Given the description of an element on the screen output the (x, y) to click on. 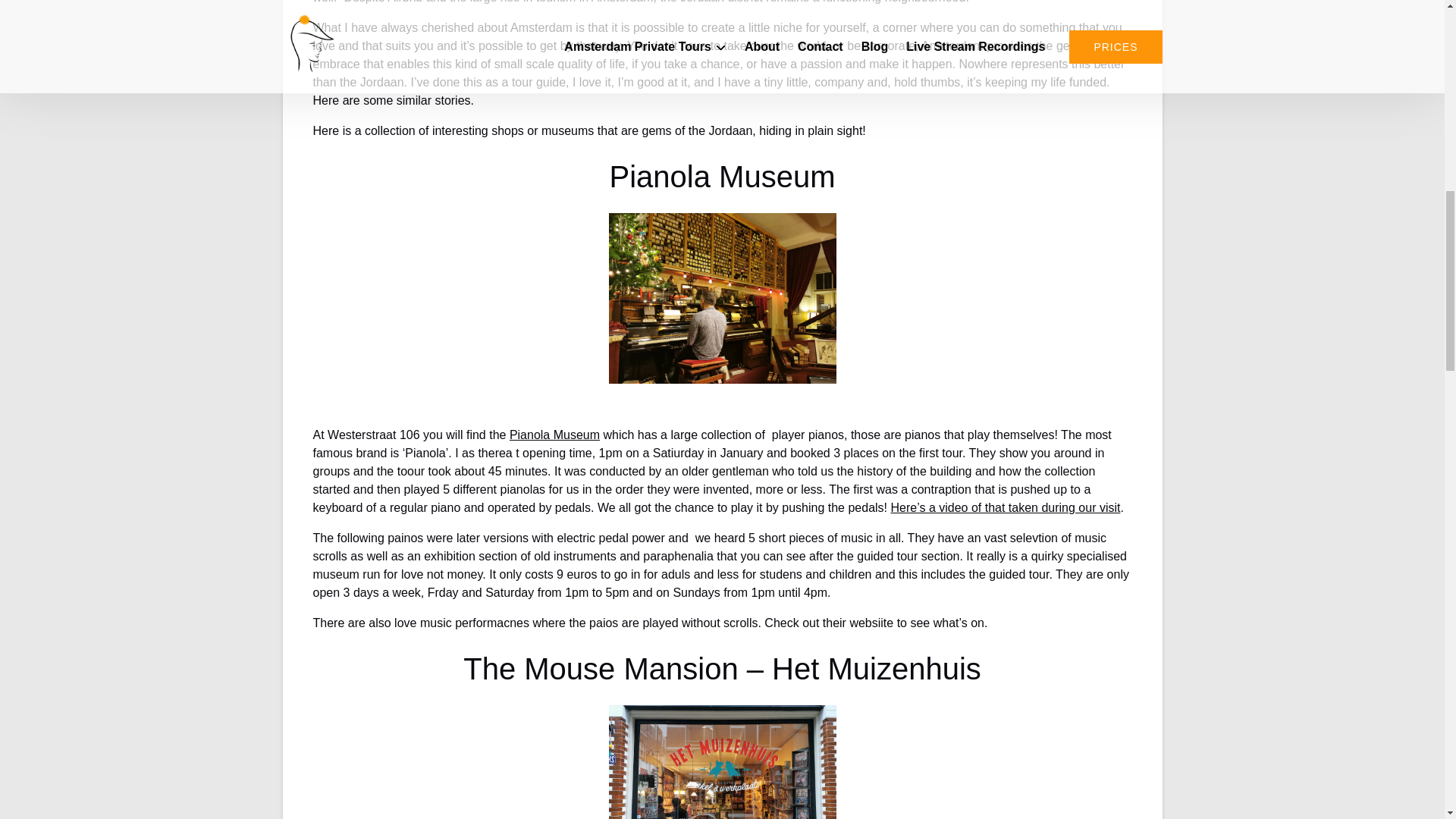
Pianola Museum (554, 434)
FareHarbor (1342, 64)
